Given the description of an element on the screen output the (x, y) to click on. 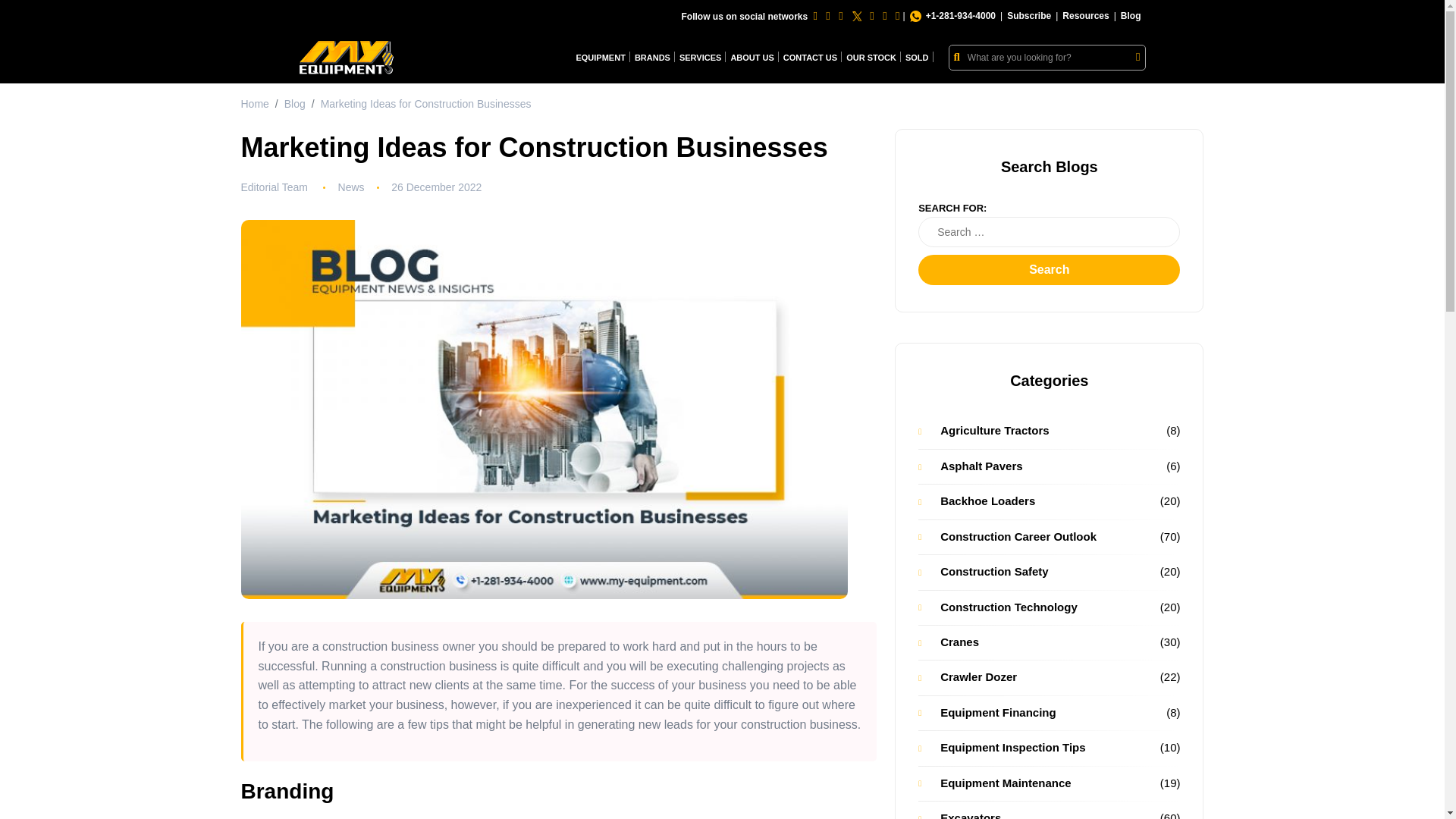
EQUIPMENT (599, 57)
SERVICES (700, 57)
Resources (1085, 15)
Subscribe (1029, 15)
Blog (1130, 15)
